Given the description of an element on the screen output the (x, y) to click on. 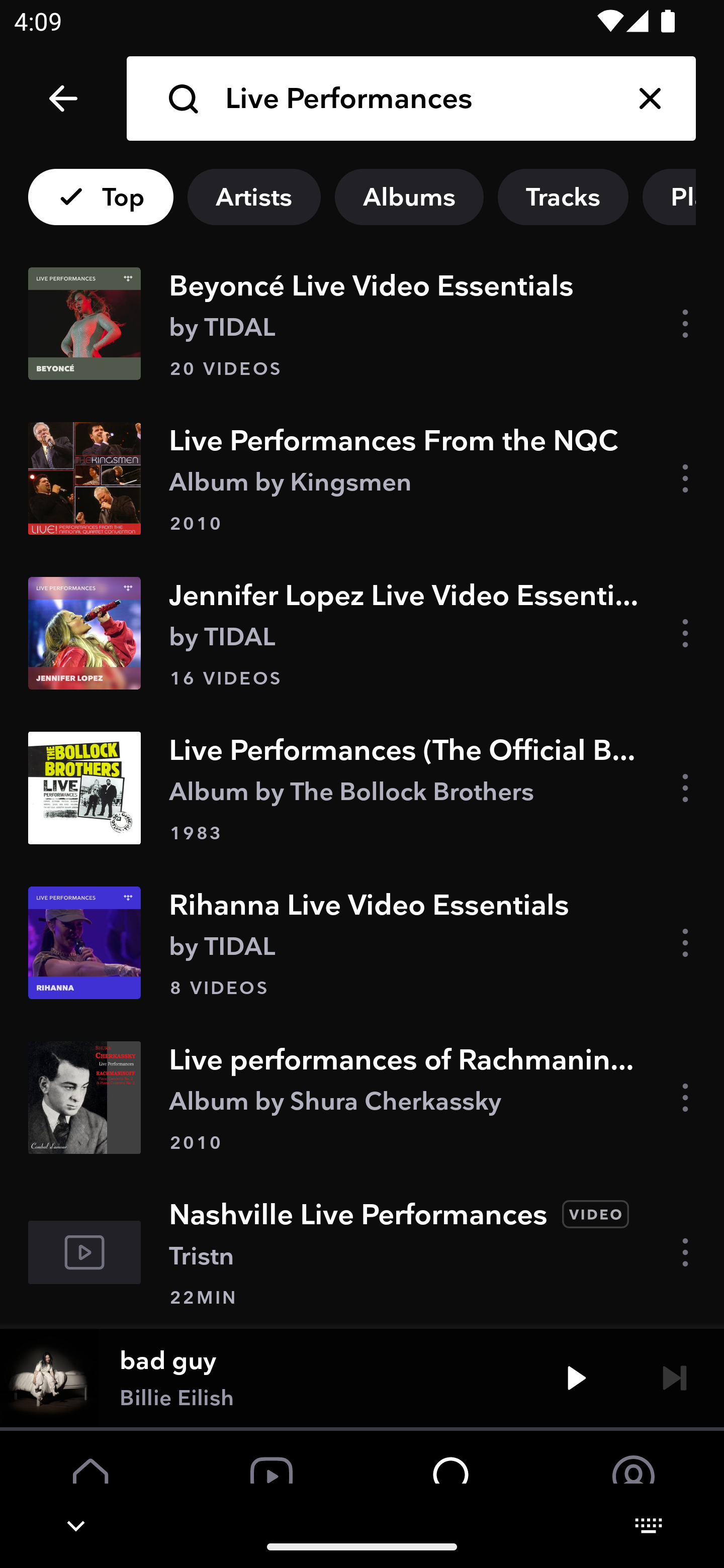
Clear query (650, 98)
Live Performances (414, 98)
Top (100, 197)
Artists (253, 197)
Albums (408, 197)
Tracks (563, 197)
Playlists (683, 197)
Playlist options menu (687, 323)
Playlist options menu (687, 632)
Playlist options menu (687, 942)
Nashville Live Performances Tristn 22MIN (362, 1251)
bad guy Billie Eilish Play (362, 1377)
Play (576, 1377)
